Given the description of an element on the screen output the (x, y) to click on. 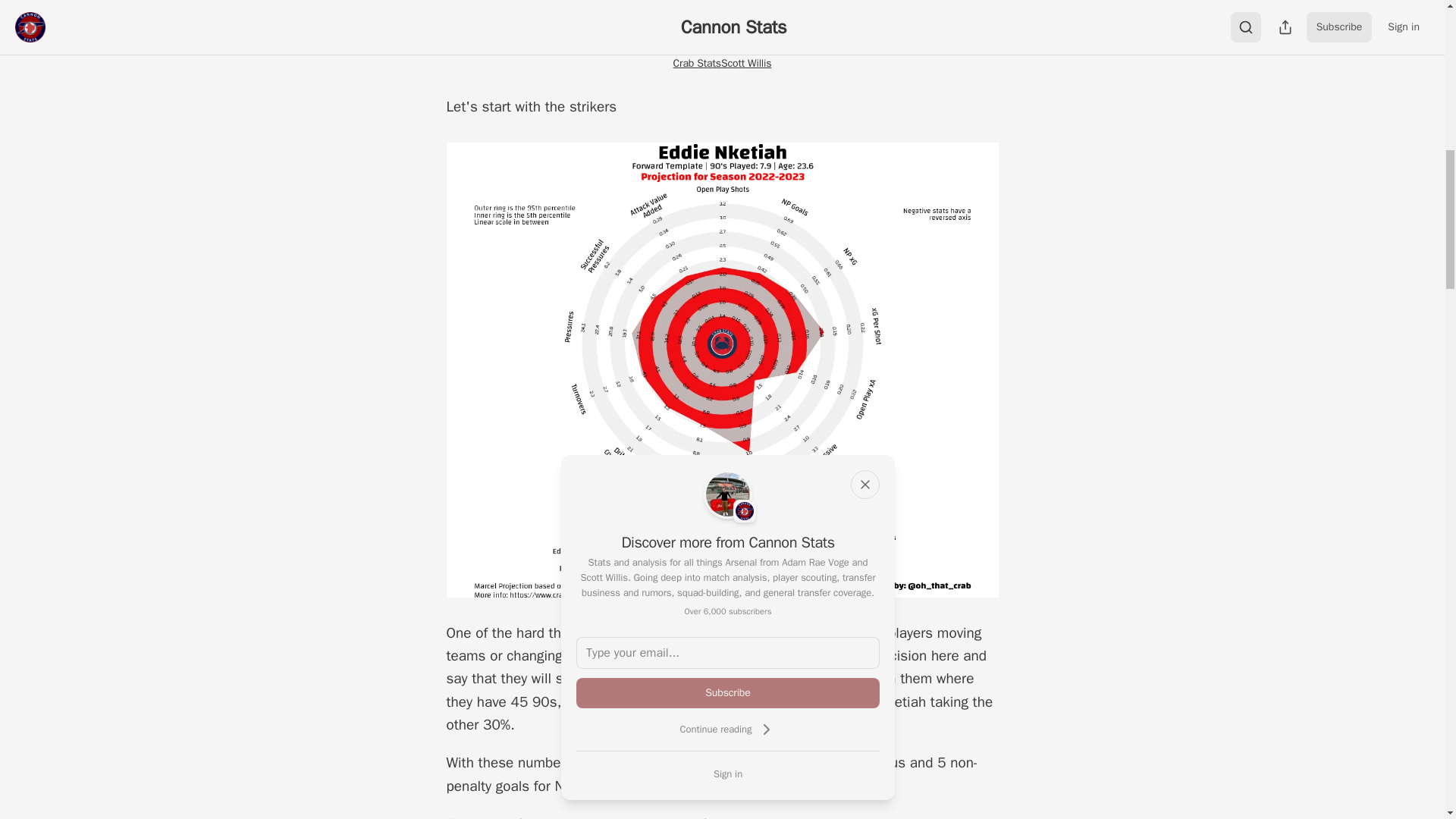
Crab StatsScott Willis (721, 62)
Subscribe (727, 693)
Sign in (727, 773)
